Given the description of an element on the screen output the (x, y) to click on. 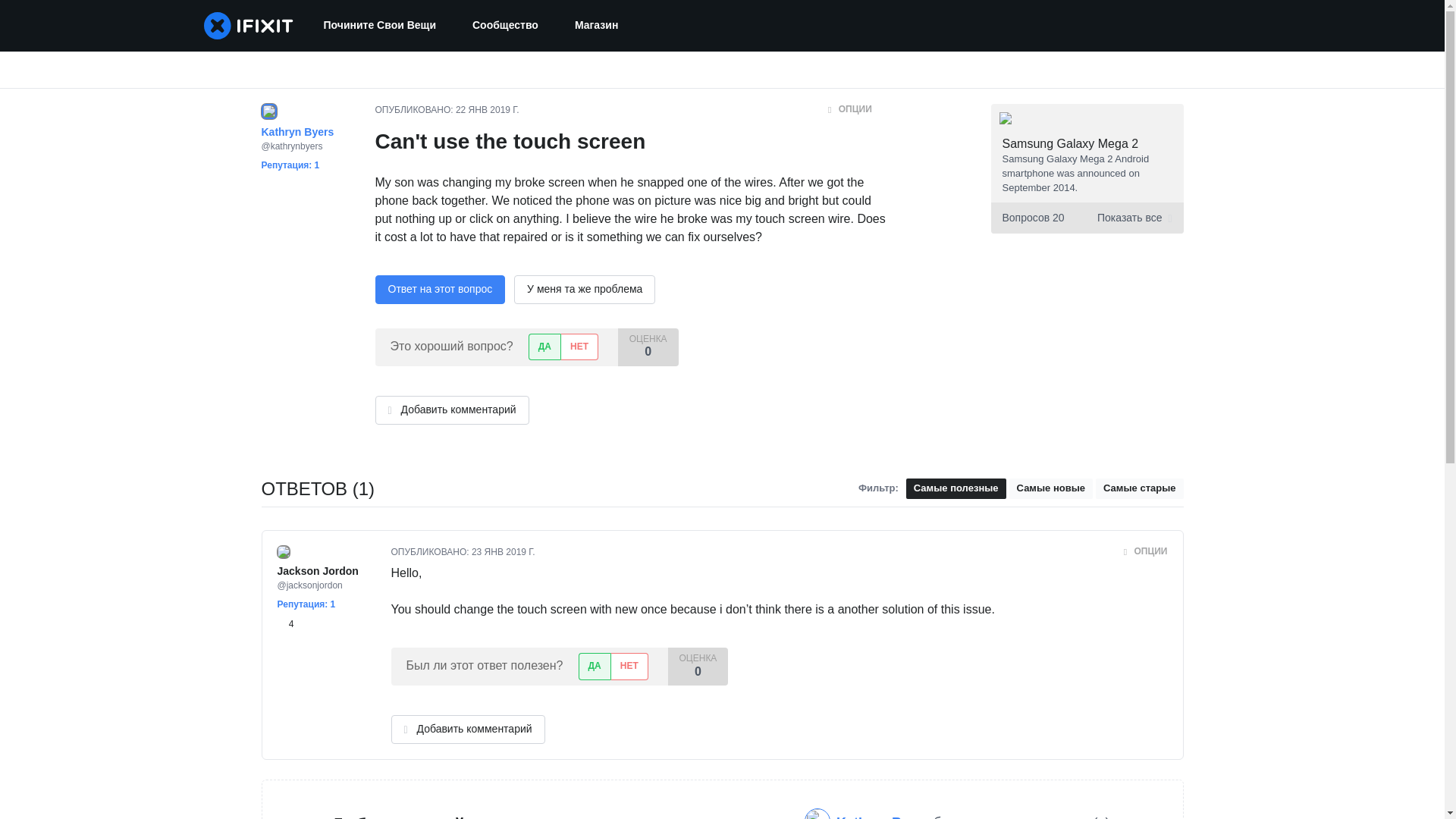
Tue, 22 Jan 2019 21:34:48 -0700 (487, 109)
4 (286, 623)
Wed, 23 Jan 2019 00:46:39 -0700 (503, 552)
Samsung Galaxy Mega 2 (1070, 143)
